Given the description of an element on the screen output the (x, y) to click on. 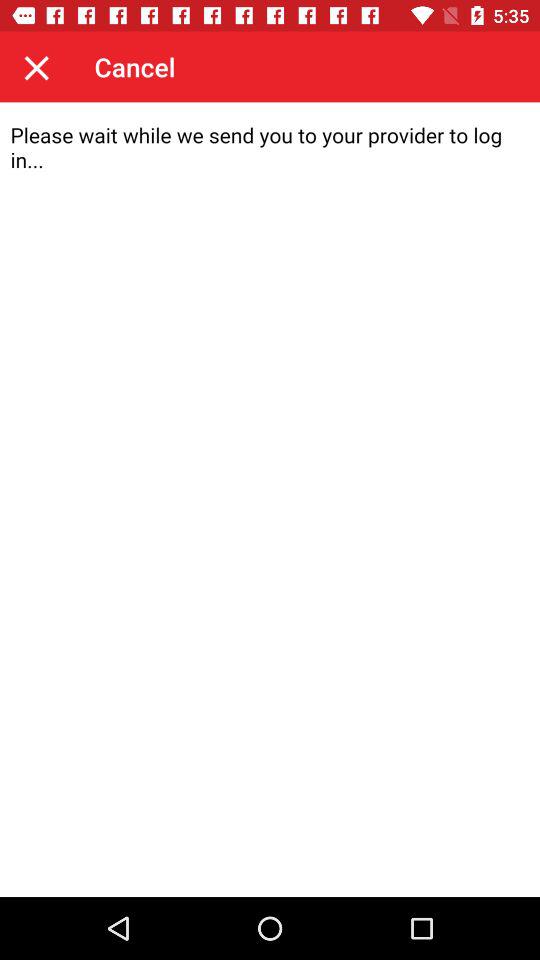
content area (270, 499)
